Given the description of an element on the screen output the (x, y) to click on. 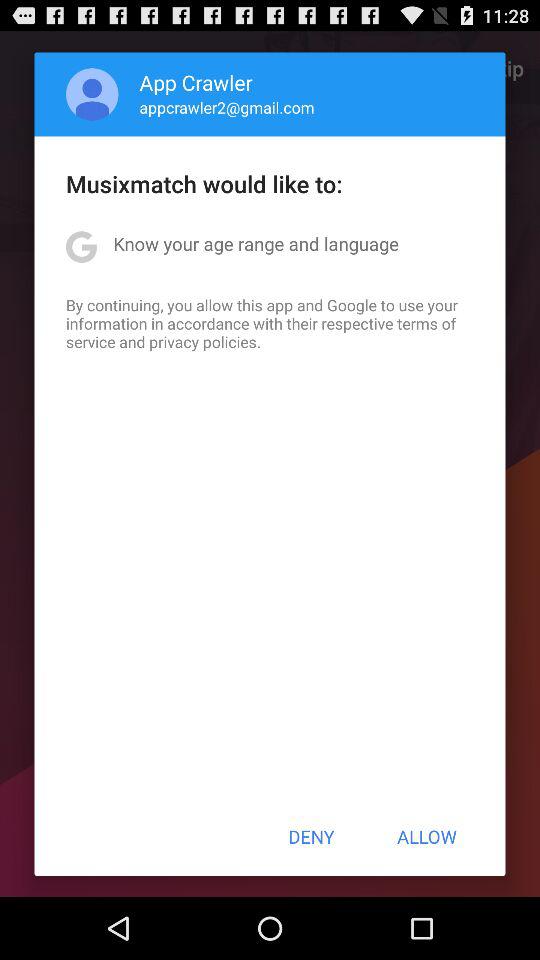
launch the item above by continuing you item (255, 243)
